Given the description of an element on the screen output the (x, y) to click on. 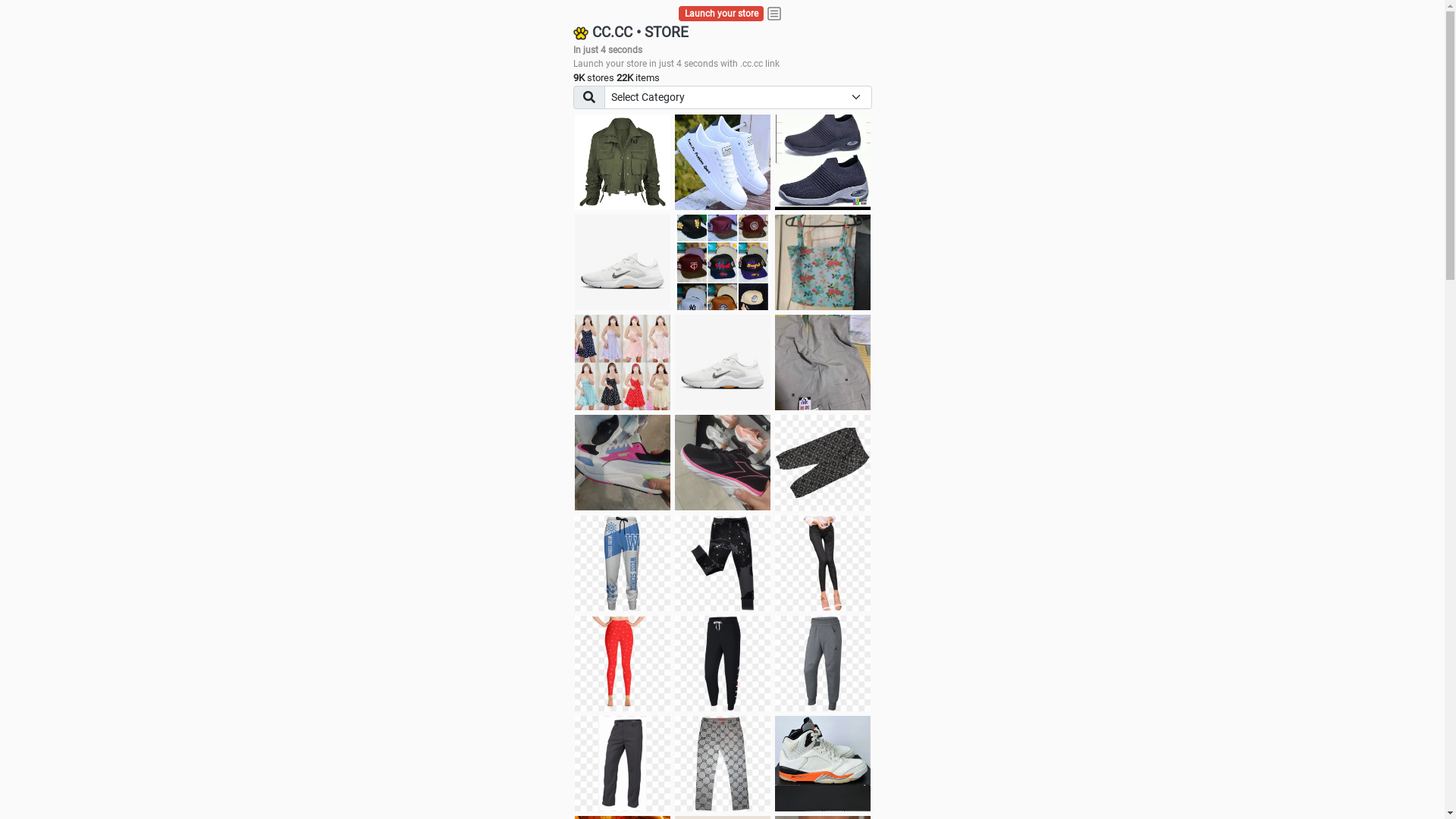
white shoes Element type: hover (722, 162)
Pant Element type: hover (722, 763)
Things we need Element type: hover (722, 262)
jacket Element type: hover (622, 162)
Shoe Element type: hover (822, 763)
Pant Element type: hover (722, 663)
shoes for boys Element type: hover (822, 162)
Dress/square nect top Element type: hover (622, 362)
Short pant Element type: hover (822, 462)
Pant Element type: hover (822, 563)
Ukay cloth Element type: hover (822, 262)
Zapatillas Element type: hover (722, 462)
Zapatillas pumas Element type: hover (622, 462)
Pant Element type: hover (622, 563)
Shoes for boys Element type: hover (622, 262)
Pant Element type: hover (822, 663)
Pant Element type: hover (722, 563)
Pant Element type: hover (622, 663)
Pant Element type: hover (622, 763)
Launch your store Element type: text (721, 13)
Shoes Element type: hover (722, 362)
